Given the description of an element on the screen output the (x, y) to click on. 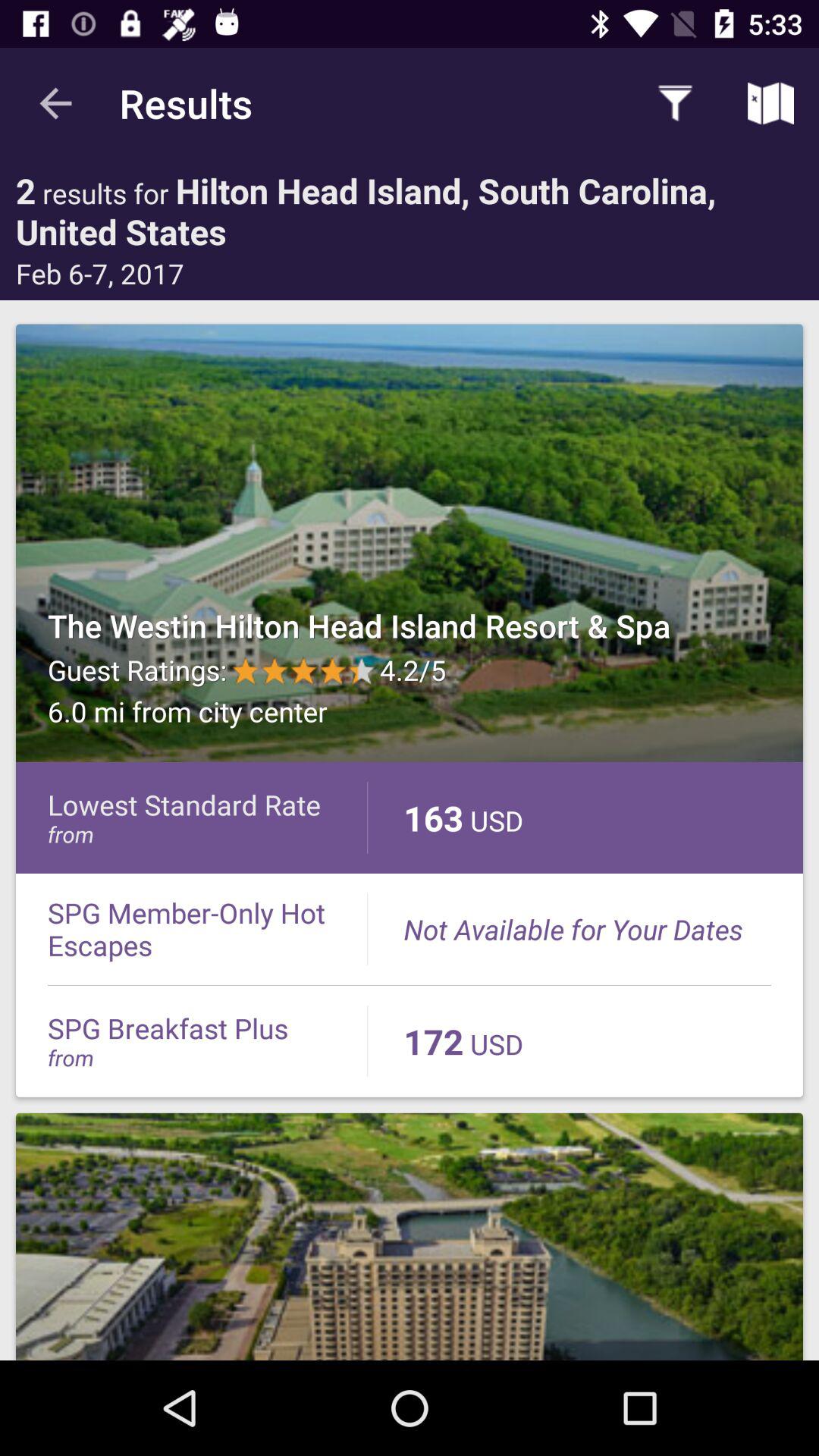
launch the app to the left of the results item (55, 103)
